Given the description of an element on the screen output the (x, y) to click on. 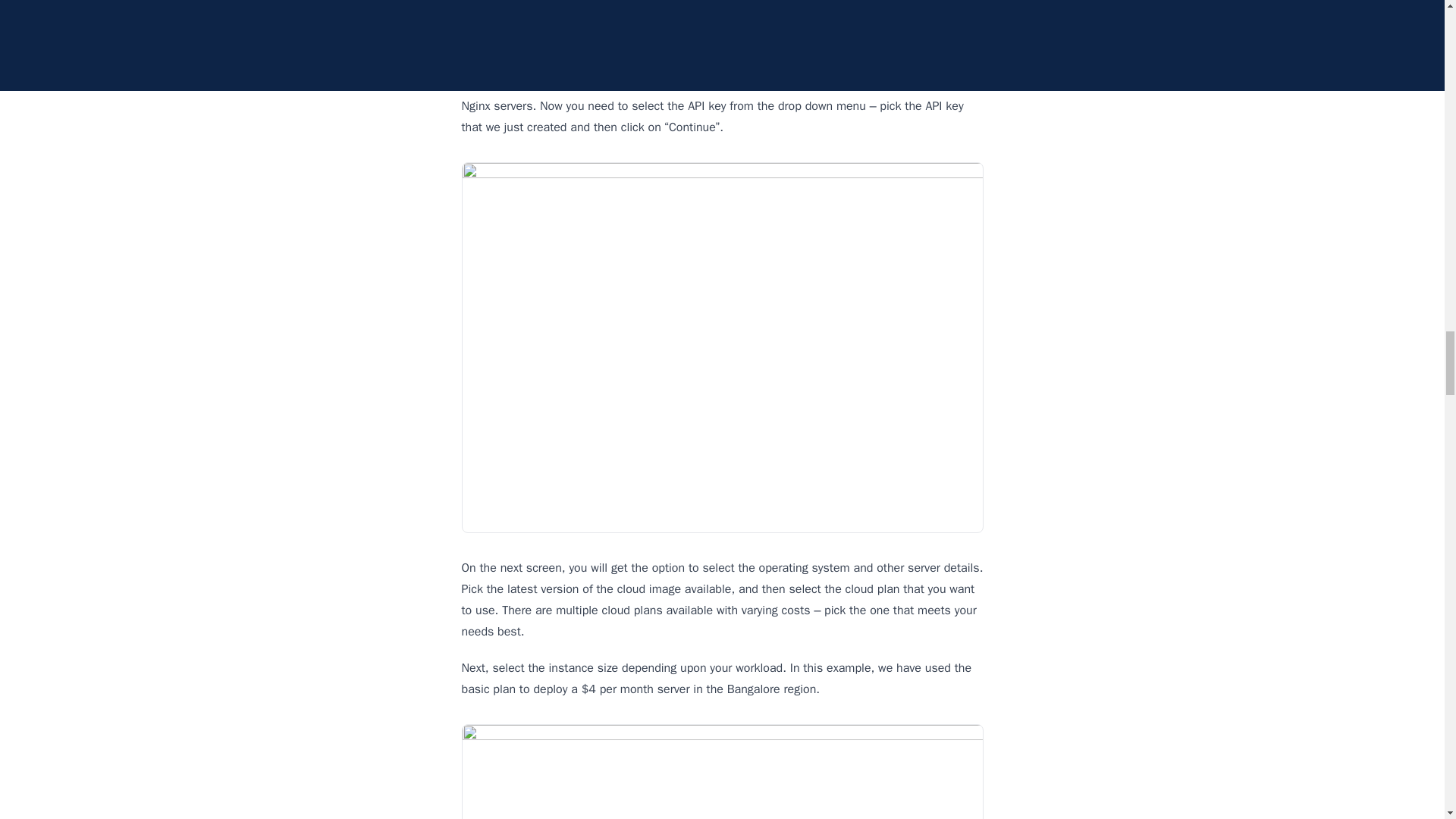
blog post on containerized architecture (584, 48)
